Given the description of an element on the screen output the (x, y) to click on. 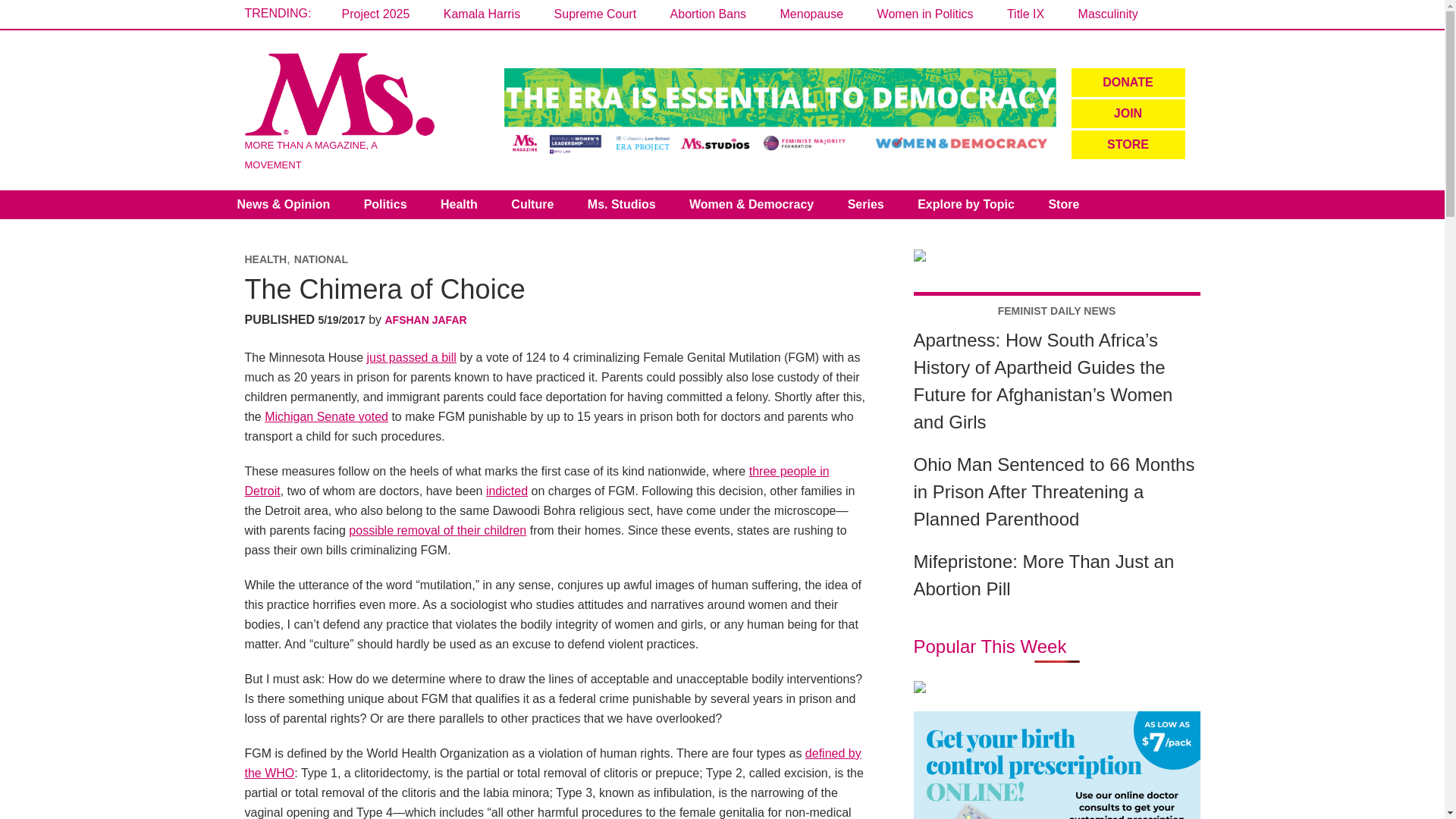
three people in Detroit (536, 481)
Supreme Court (595, 13)
Kamala Harris (481, 13)
Culture (532, 204)
just passed a bill (410, 357)
HEALTH (265, 259)
NATIONAL (320, 259)
Masculinity (1108, 13)
AFSHAN JAFAR (426, 319)
Health (459, 204)
